Given the description of an element on the screen output the (x, y) to click on. 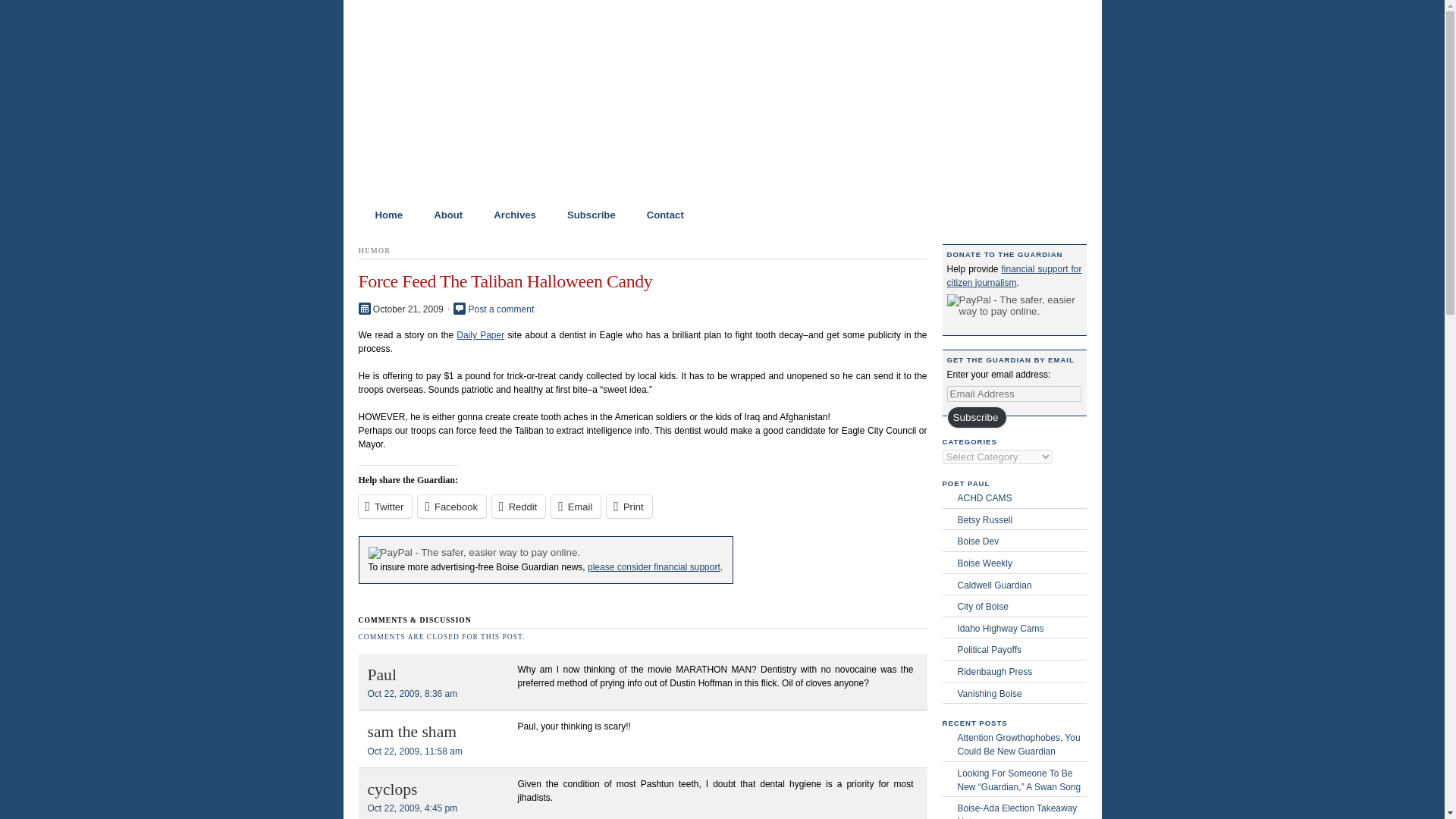
ACHD CAMS (1021, 498)
Subscribe (583, 214)
Attention Growthophobes, You Could Be New Guardian (1021, 744)
Facebook (451, 506)
Daily Paper (480, 335)
financial support for citizen journalism (1013, 275)
Print (628, 506)
Political Payoffs (1021, 649)
Alternative newspaper (1021, 563)
